Given the description of an element on the screen output the (x, y) to click on. 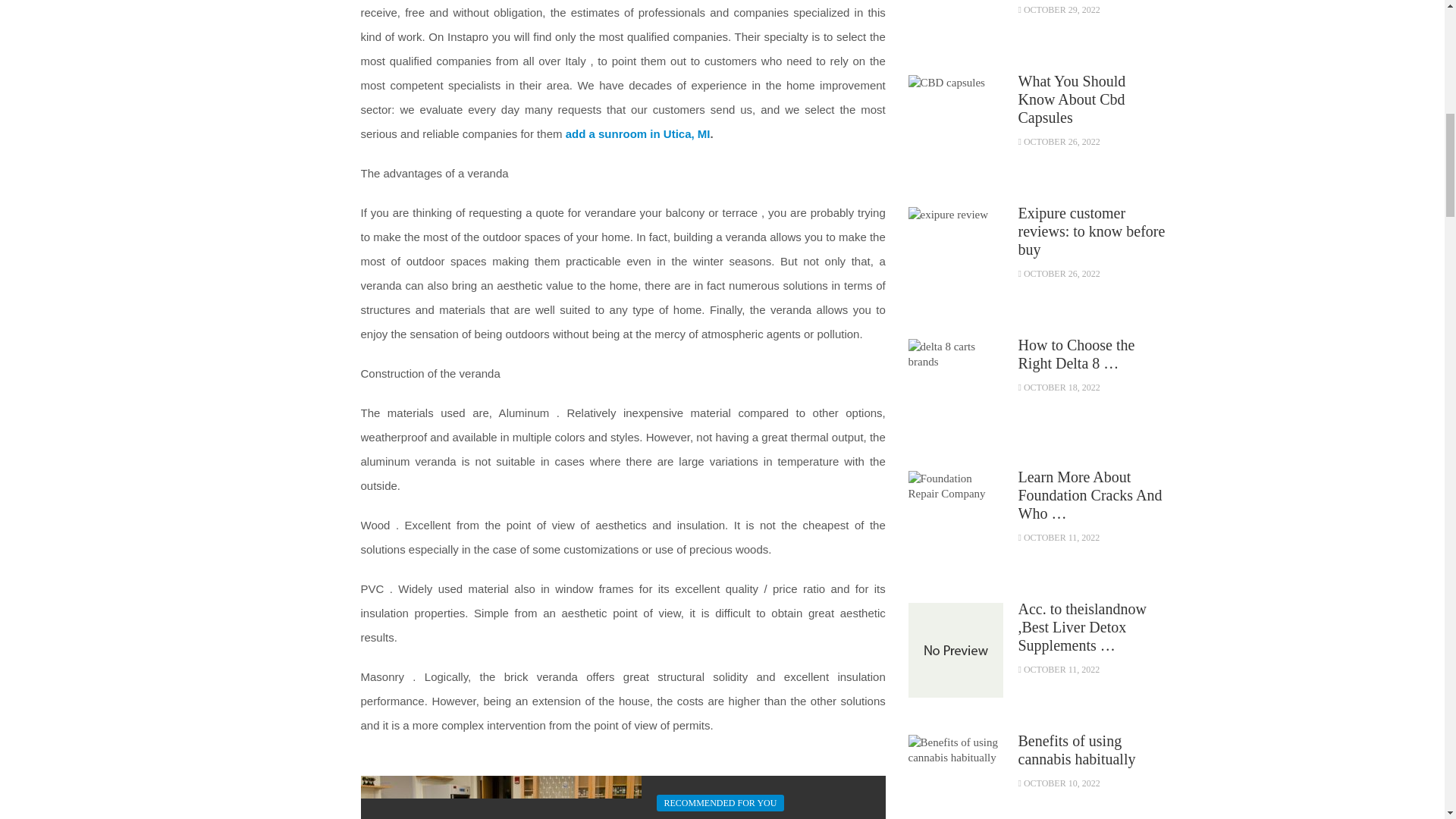
add a sunroom in Utica, MI (638, 133)
